Given the description of an element on the screen output the (x, y) to click on. 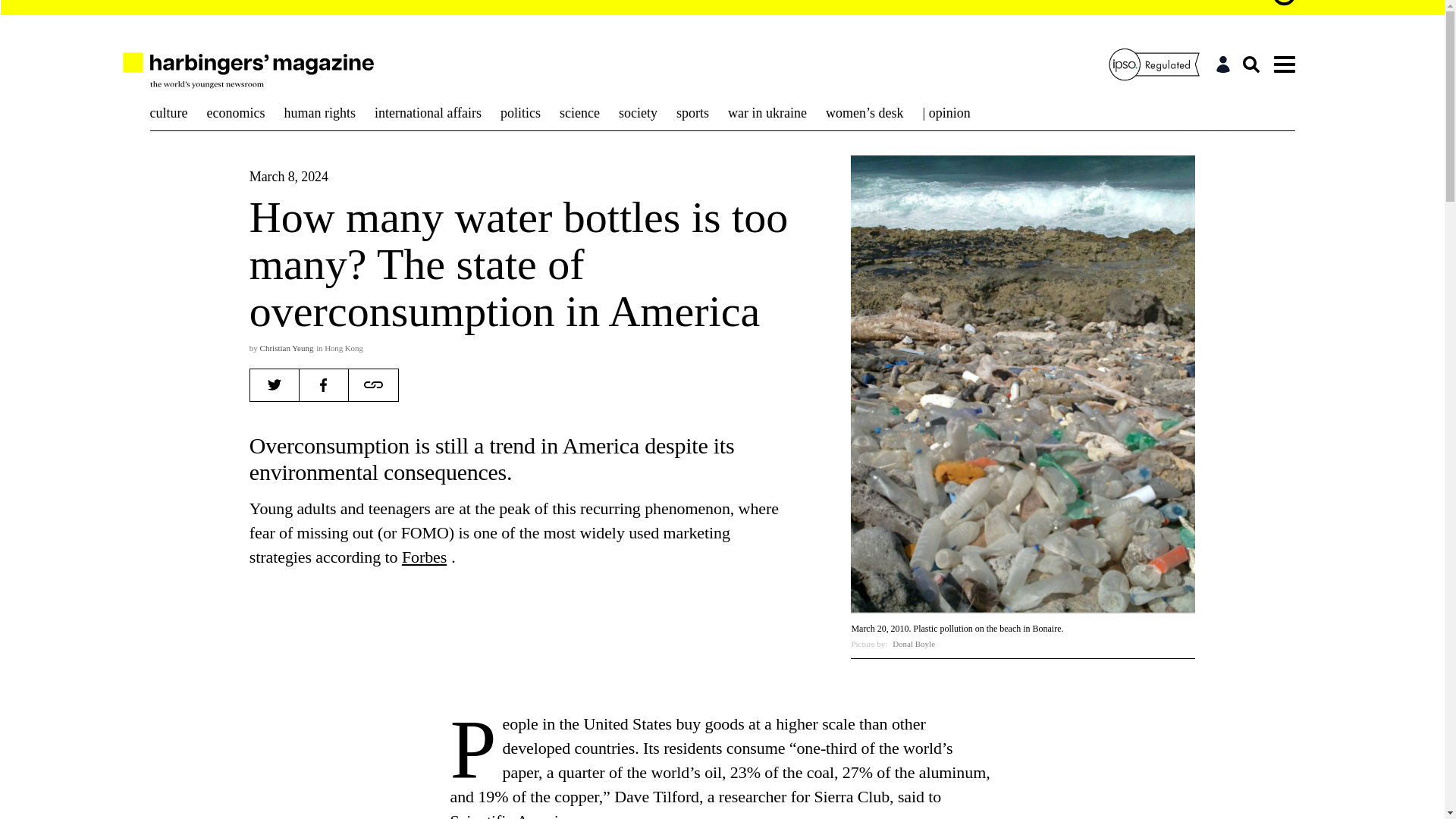
culture (170, 112)
Donal Boyle (913, 644)
Christian Yeungin Hong Kong (312, 347)
Forbes (424, 557)
society (637, 112)
international affairs (427, 112)
politics (520, 112)
war in ukraine (766, 112)
science (580, 112)
economics (234, 112)
Scientific American (514, 815)
human rights (319, 112)
sports (692, 112)
